Given the description of an element on the screen output the (x, y) to click on. 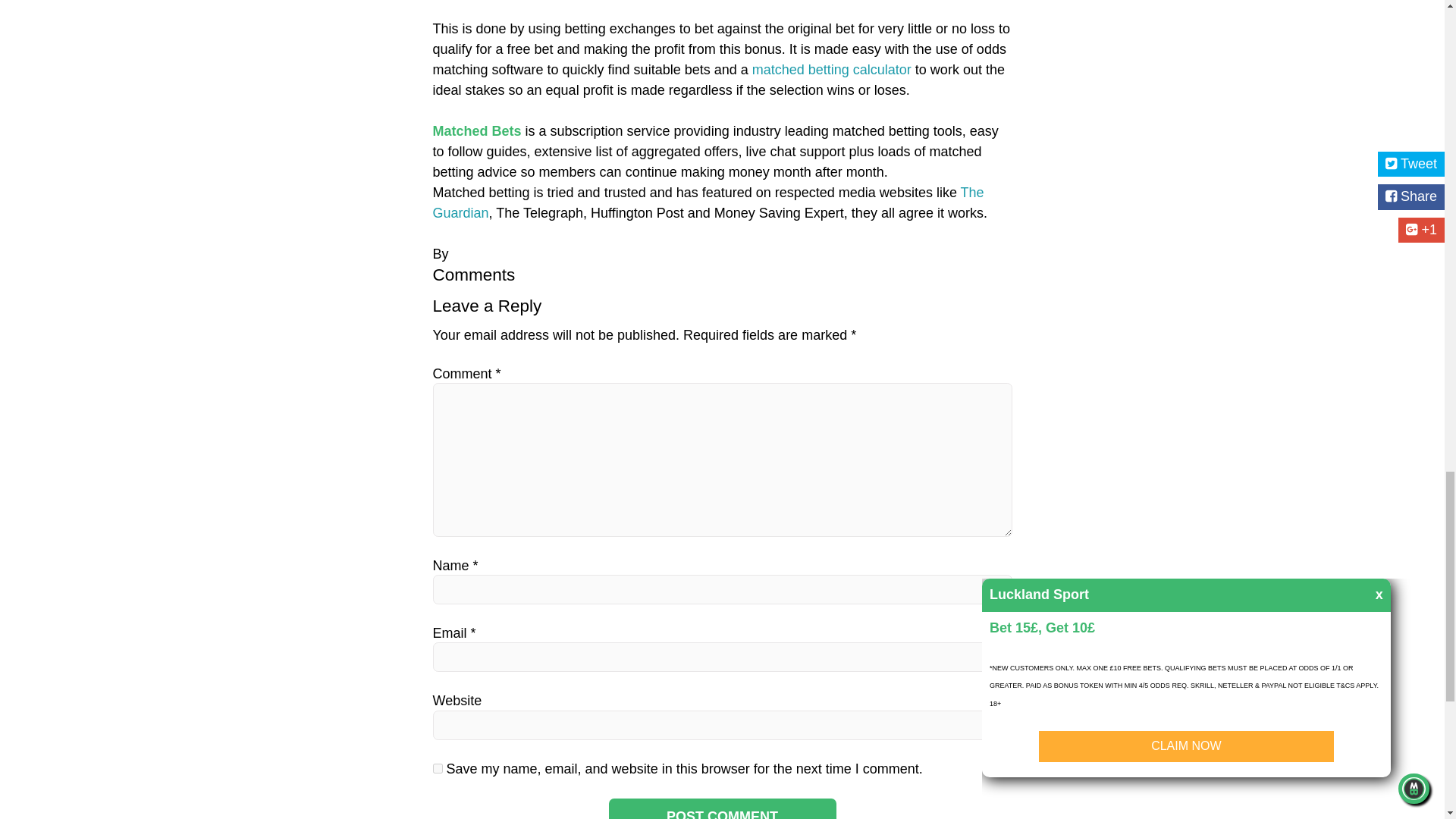
yes (437, 768)
Post Comment (721, 808)
